Given the description of an element on the screen output the (x, y) to click on. 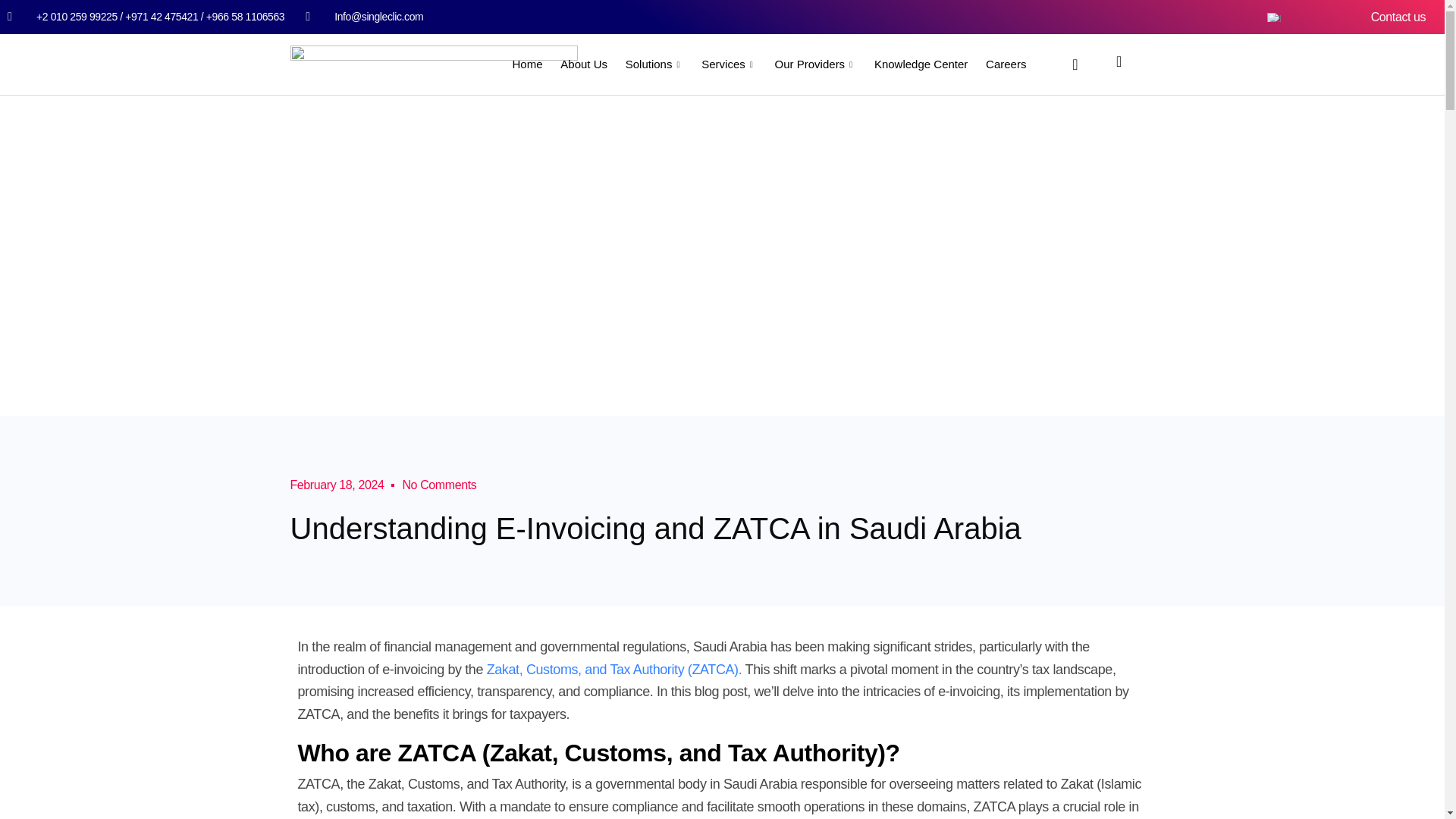
Knowledge Center (921, 64)
Contact us (1398, 16)
February 18, 2024 (336, 485)
About Us (583, 64)
Solutions (655, 64)
Our Providers (815, 64)
Services (729, 64)
No Comments (438, 485)
